Given the description of an element on the screen output the (x, y) to click on. 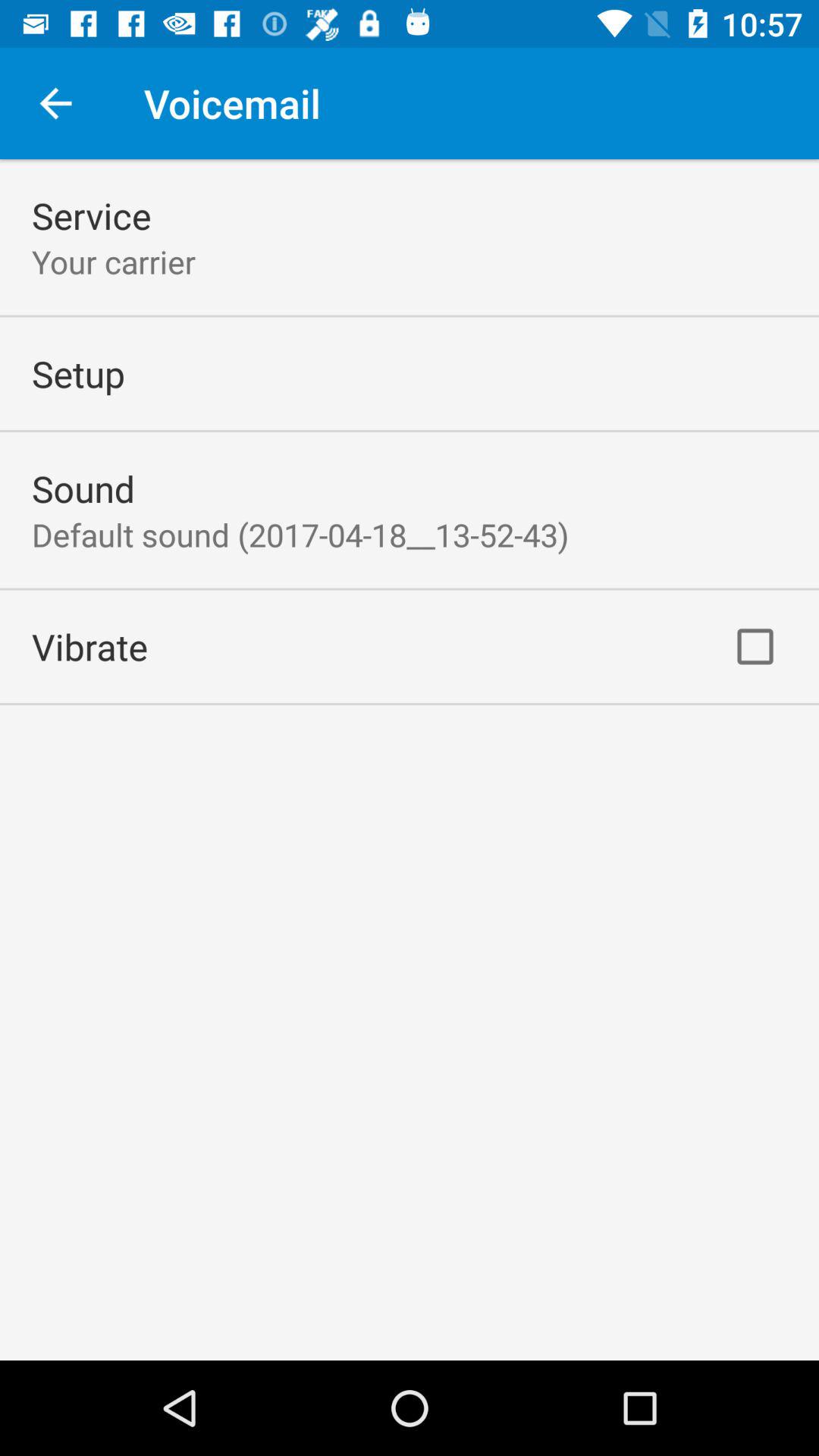
scroll to the vibrate item (89, 646)
